Given the description of an element on the screen output the (x, y) to click on. 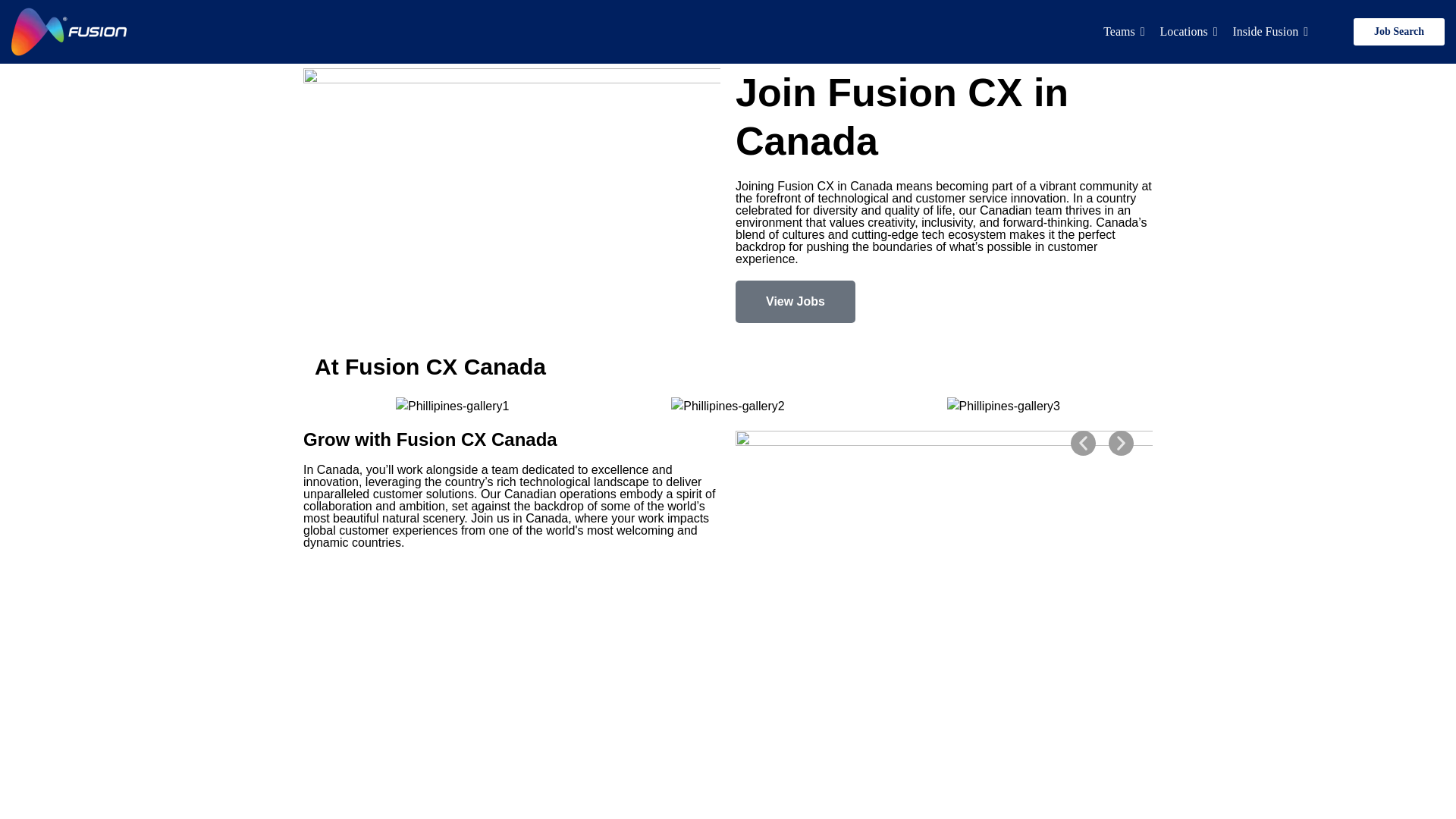
Teams (1123, 31)
Locations (1188, 31)
View Jobs (795, 301)
Job Search (1399, 31)
Fusion CX Careers (68, 31)
Inside Fusion (1269, 31)
